Given the description of an element on the screen output the (x, y) to click on. 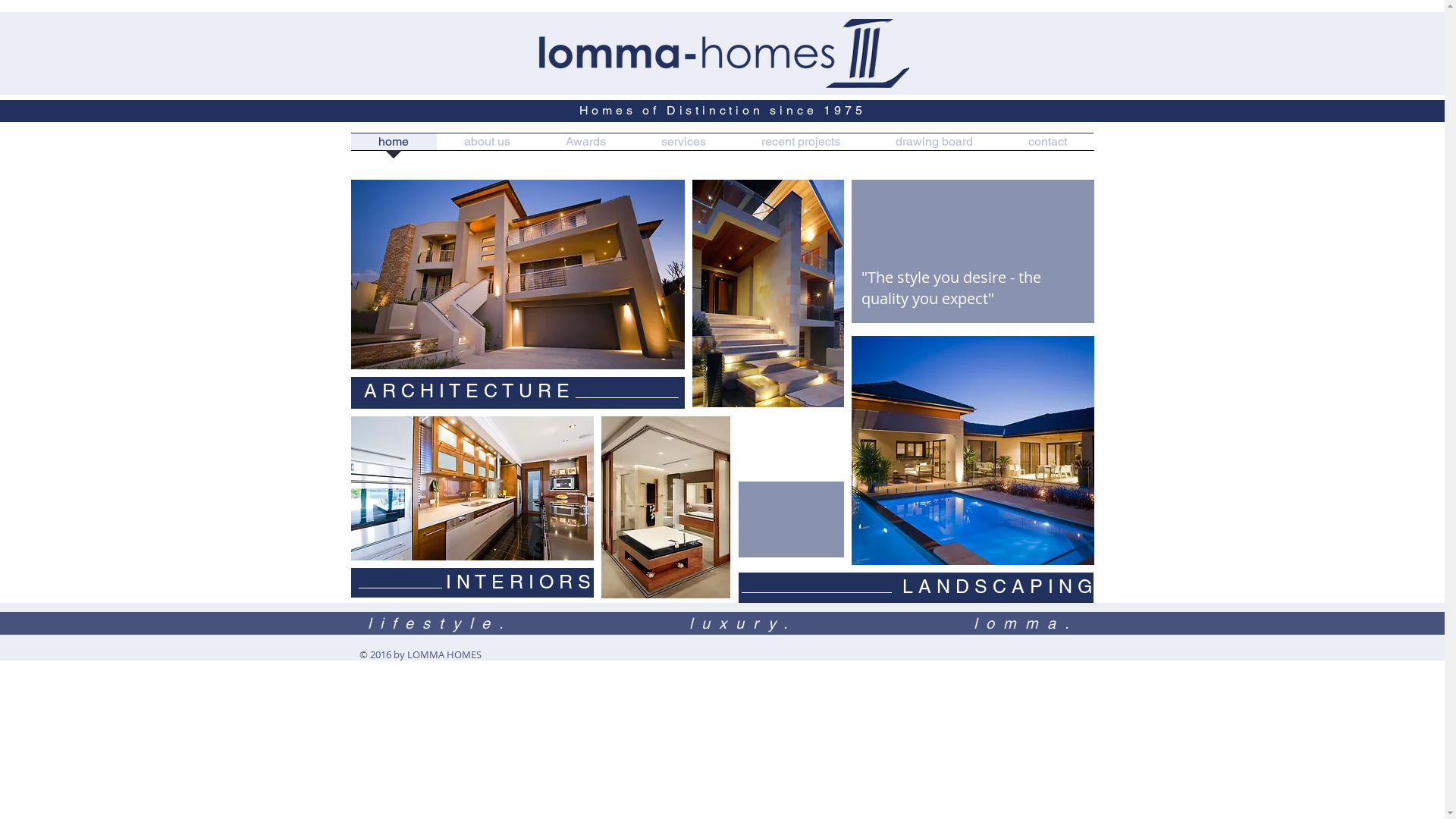
contact Element type: text (1047, 146)
Awards Element type: text (585, 146)
Lomma Homes Element type: hover (517, 274)
L A N D S C A P I N G Element type: text (1001, 586)
services Element type: text (683, 146)
home Element type: text (393, 146)
A R C H I T E C T U R E Element type: text (467, 390)
drawing board Element type: text (933, 146)
Lomma Homes Element type: hover (767, 293)
I N T E R I O R S Element type: text (518, 581)
Lomma_full_Lgradient.png Element type: hover (722, 52)
about us Element type: text (487, 146)
recent projects Element type: text (801, 146)
Lomma Homes Element type: hover (971, 449)
Lomma Homes Element type: hover (664, 507)
Lomma Homes Element type: hover (471, 488)
